Given the description of an element on the screen output the (x, y) to click on. 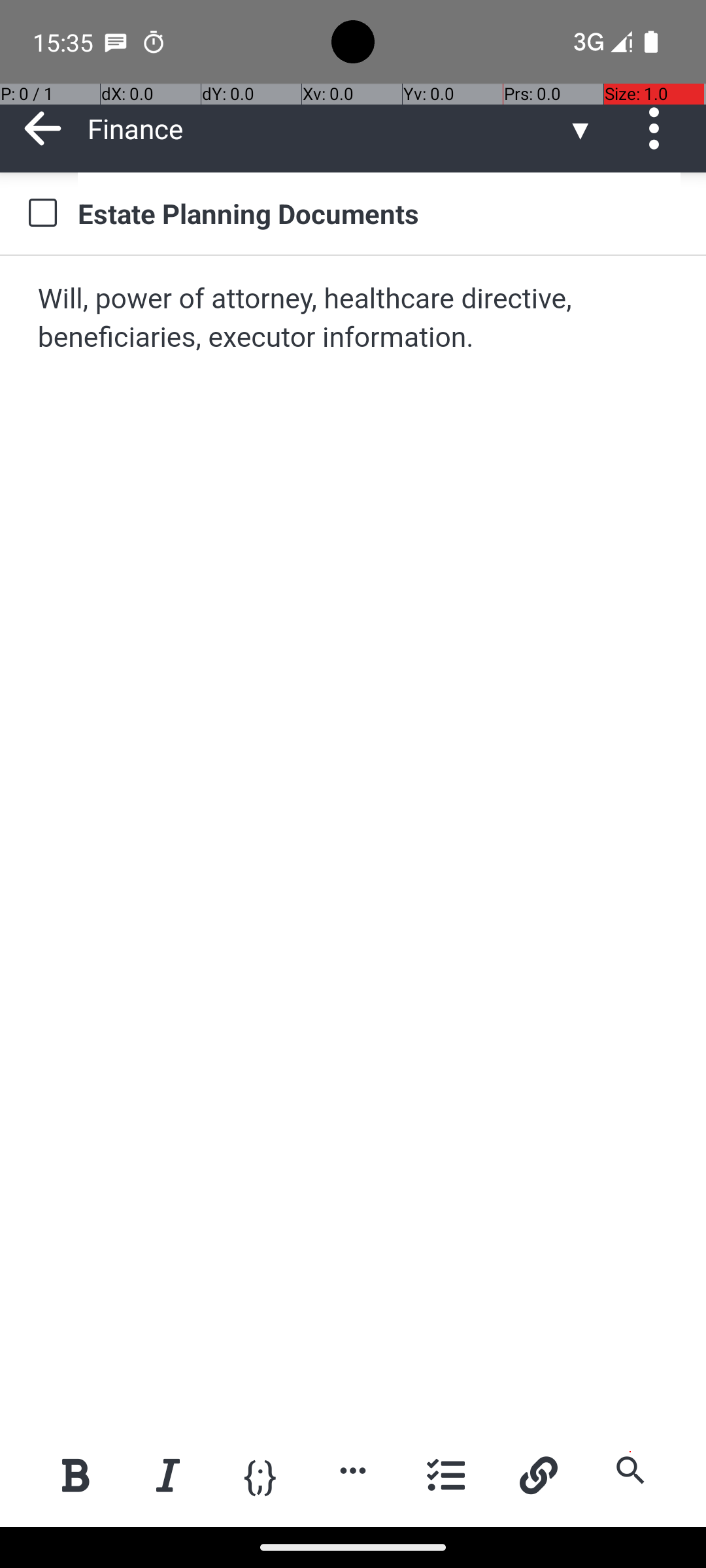
Estate Planning Documents Element type: android.widget.EditText (378, 213)
Will, power of attorney, healthcare directive, beneficiaries, executor information. Element type: android.widget.EditText (354, 318)
